Given the description of an element on the screen output the (x, y) to click on. 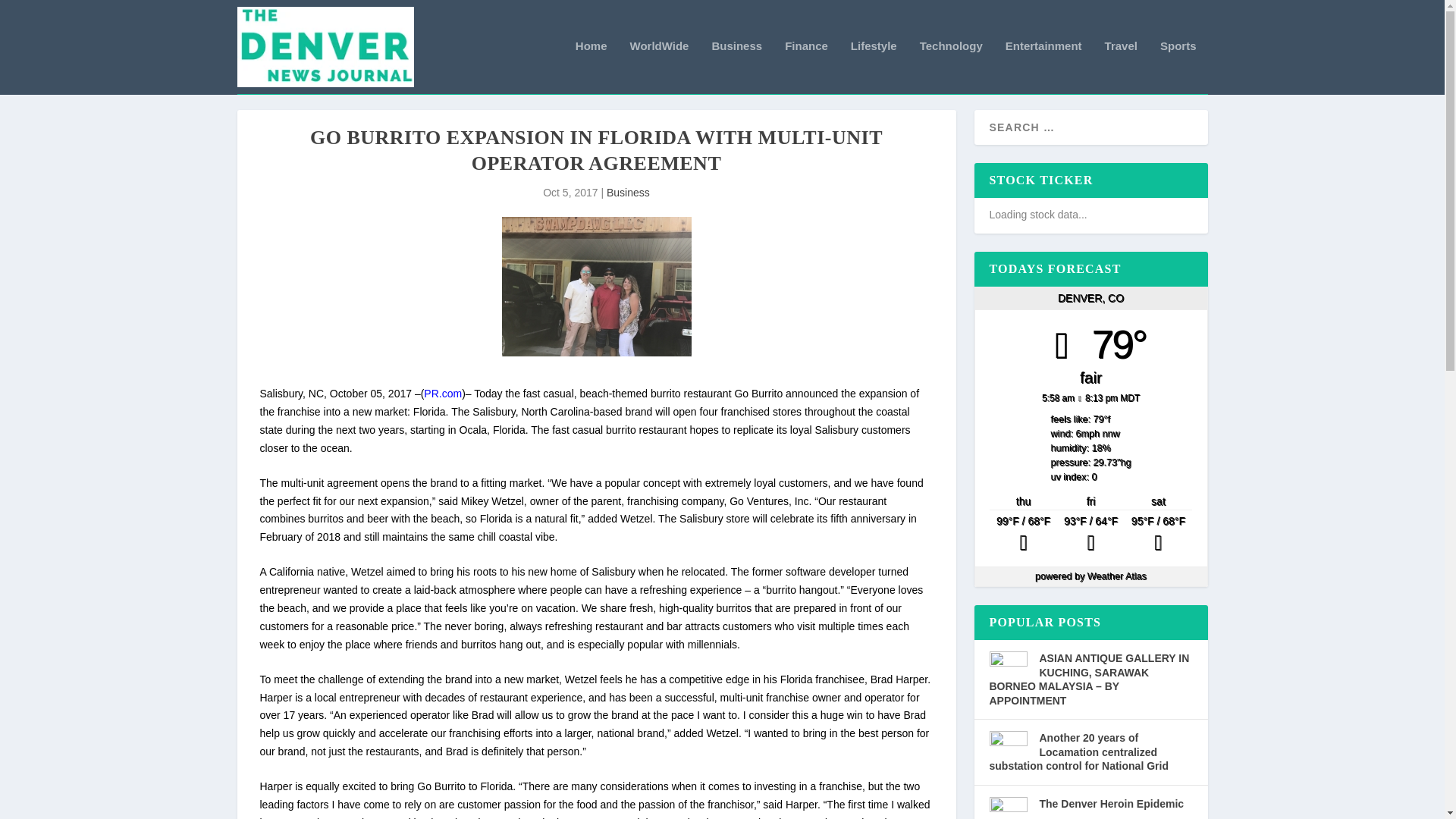
Search (31, 13)
Mostly Sunny (1023, 534)
Mostly Sunny (1158, 534)
PR.com (442, 393)
WorldWide (659, 67)
Mostly Sunny (1090, 534)
Business (736, 67)
Technology (951, 67)
Entertainment (1043, 67)
Business (628, 192)
